Given the description of an element on the screen output the (x, y) to click on. 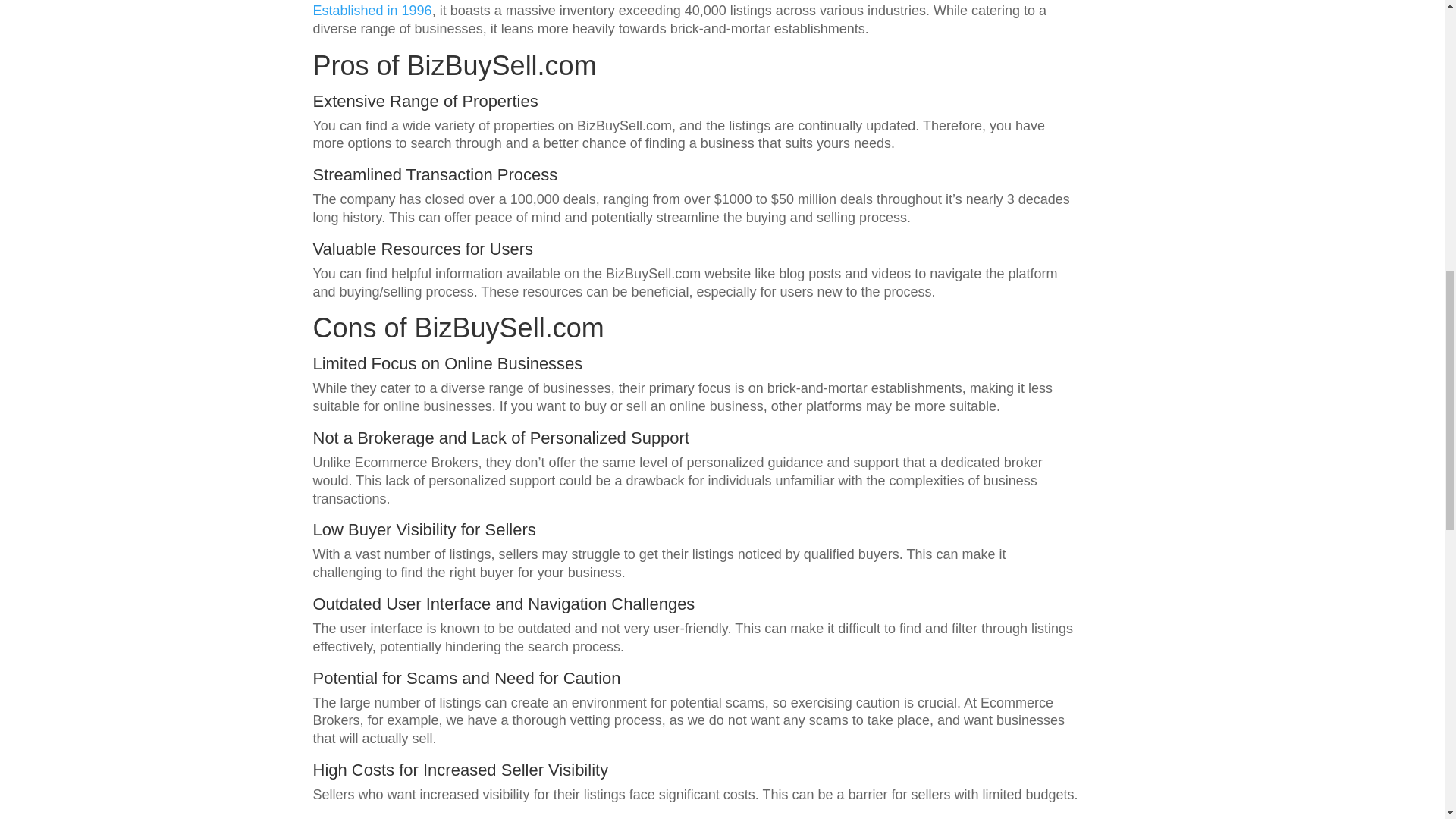
Established in 1996 (371, 10)
